Given the description of an element on the screen output the (x, y) to click on. 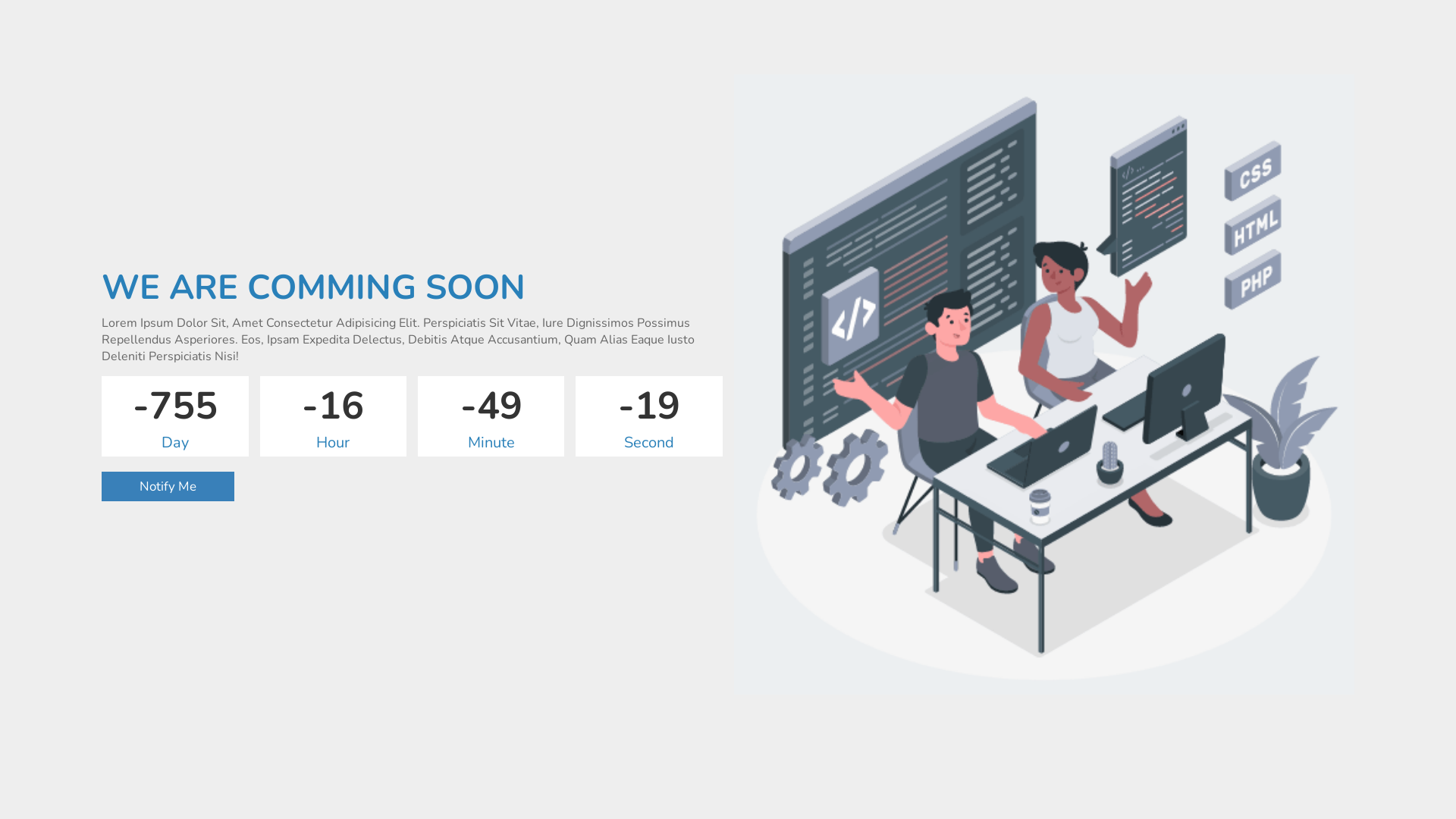
Notify Me Element type: text (167, 486)
